Given the description of an element on the screen output the (x, y) to click on. 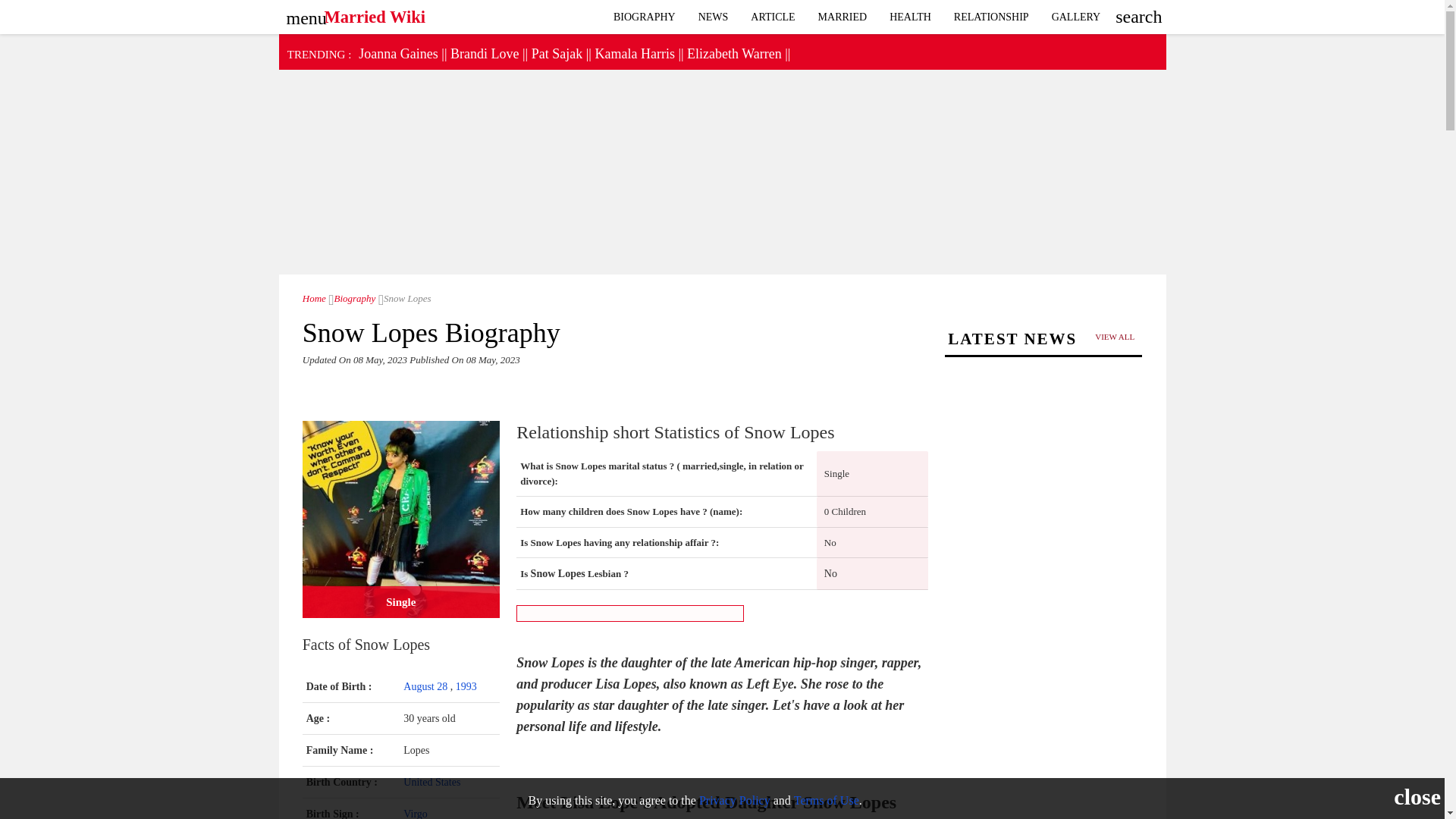
Joanna Gaines (398, 53)
Married Wiki (375, 13)
Lifestyle (909, 17)
Kamala Harris (634, 53)
MARRIED (842, 17)
Biography (644, 17)
HEALTH (909, 17)
Biography (352, 297)
United States (431, 781)
Elizabeth Warren (734, 53)
